Given the description of an element on the screen output the (x, y) to click on. 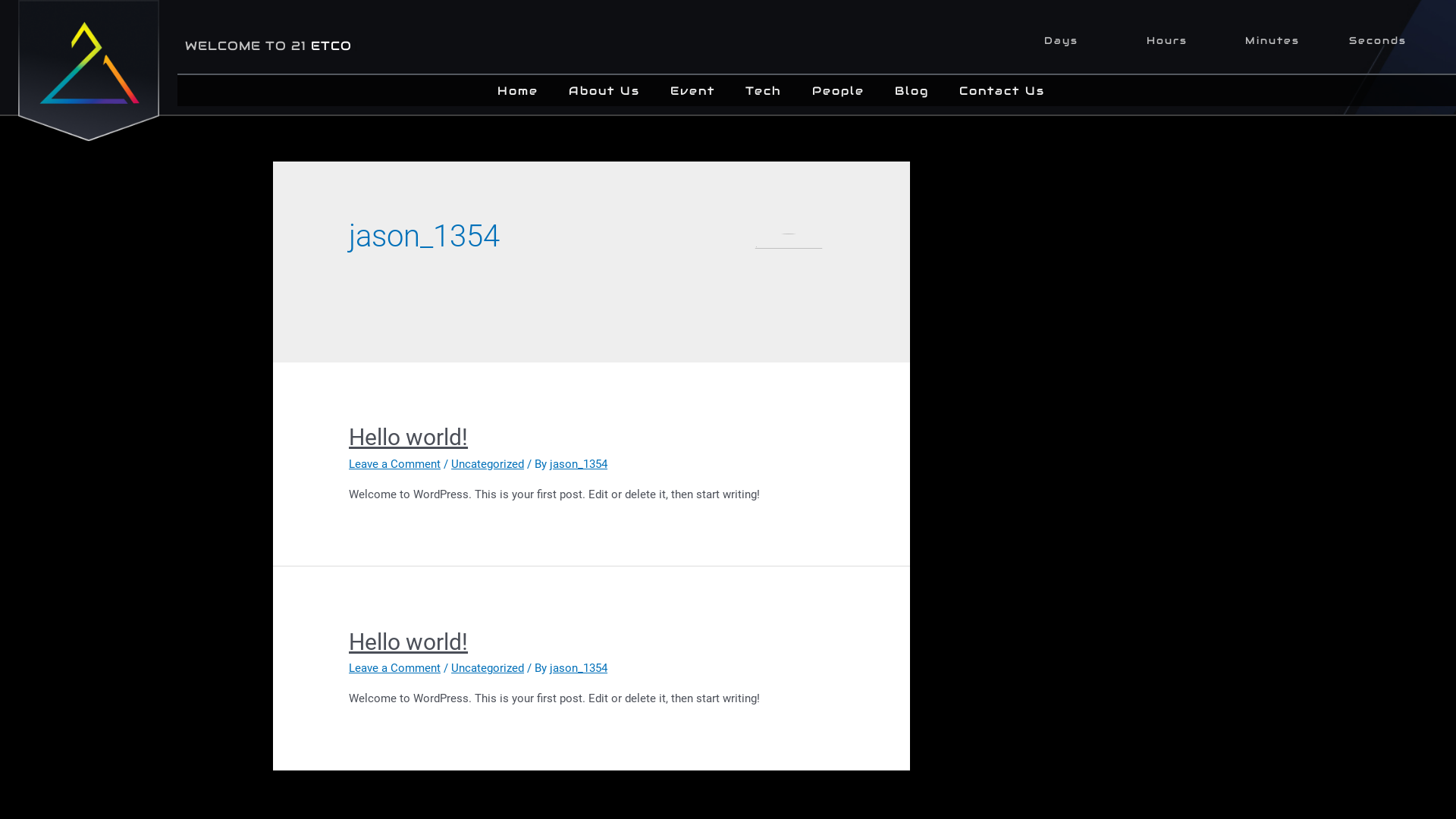
About Us Element type: text (604, 90)
Leave a Comment Element type: text (394, 667)
Event Element type: text (692, 90)
Leave a Comment Element type: text (394, 463)
Uncategorized Element type: text (487, 667)
Hello world! Element type: text (407, 436)
jason_1354 Element type: text (578, 463)
Home Element type: text (517, 90)
Uncategorized Element type: text (487, 463)
jason_1354 Element type: text (578, 667)
People Element type: text (838, 90)
Contact Us Element type: text (1002, 90)
Blog Element type: text (911, 90)
Hello world! Element type: text (407, 641)
Tech Element type: text (763, 90)
